Given the description of an element on the screen output the (x, y) to click on. 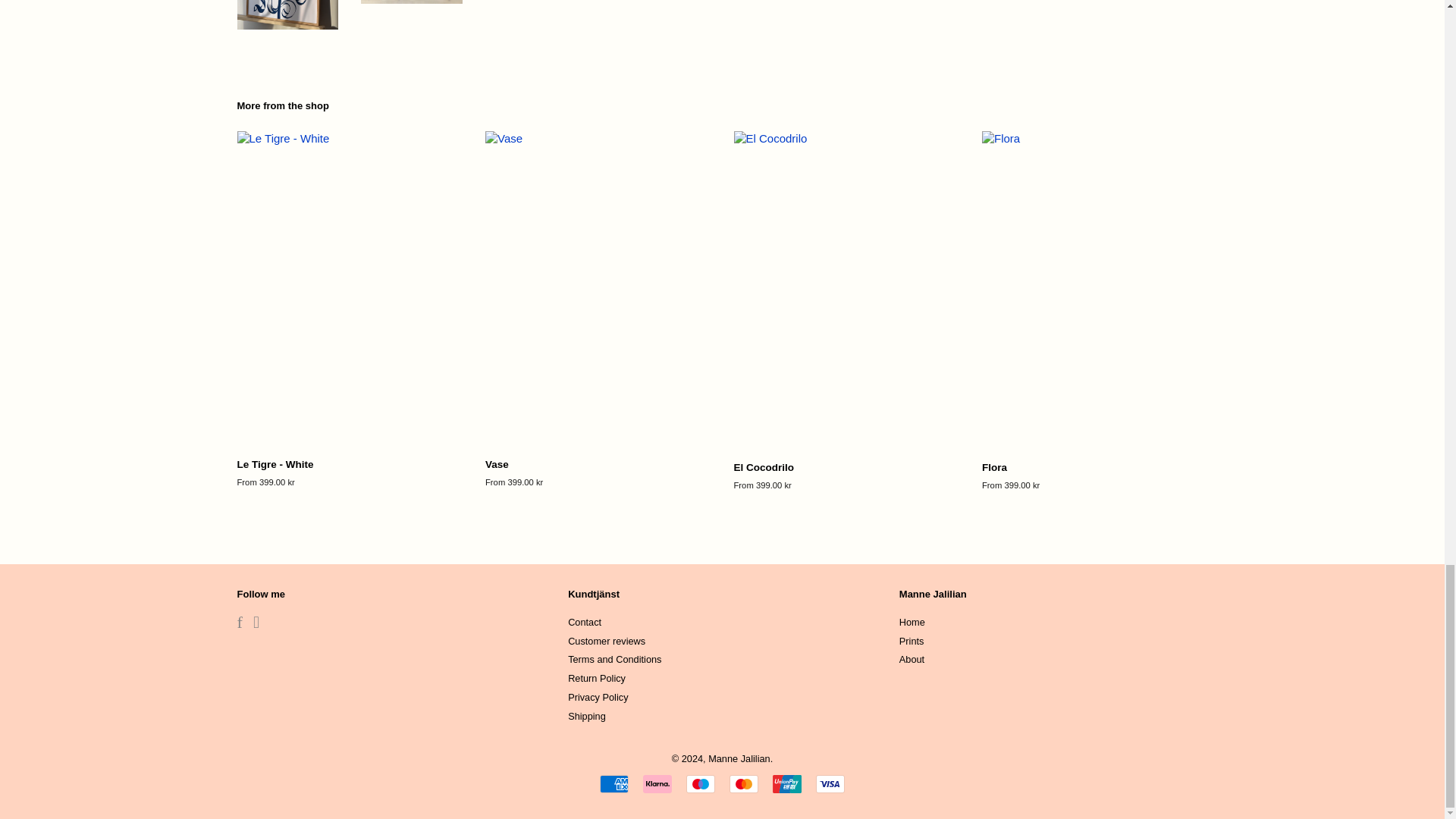
Manne Jalilian (738, 758)
Privacy Policy (597, 696)
Mastercard (743, 783)
Terms and Conditions (614, 659)
American Express (613, 783)
Contact (584, 622)
Visa (829, 783)
Union Pay (787, 783)
Klarna (657, 783)
Maestro (699, 783)
